Given the description of an element on the screen output the (x, y) to click on. 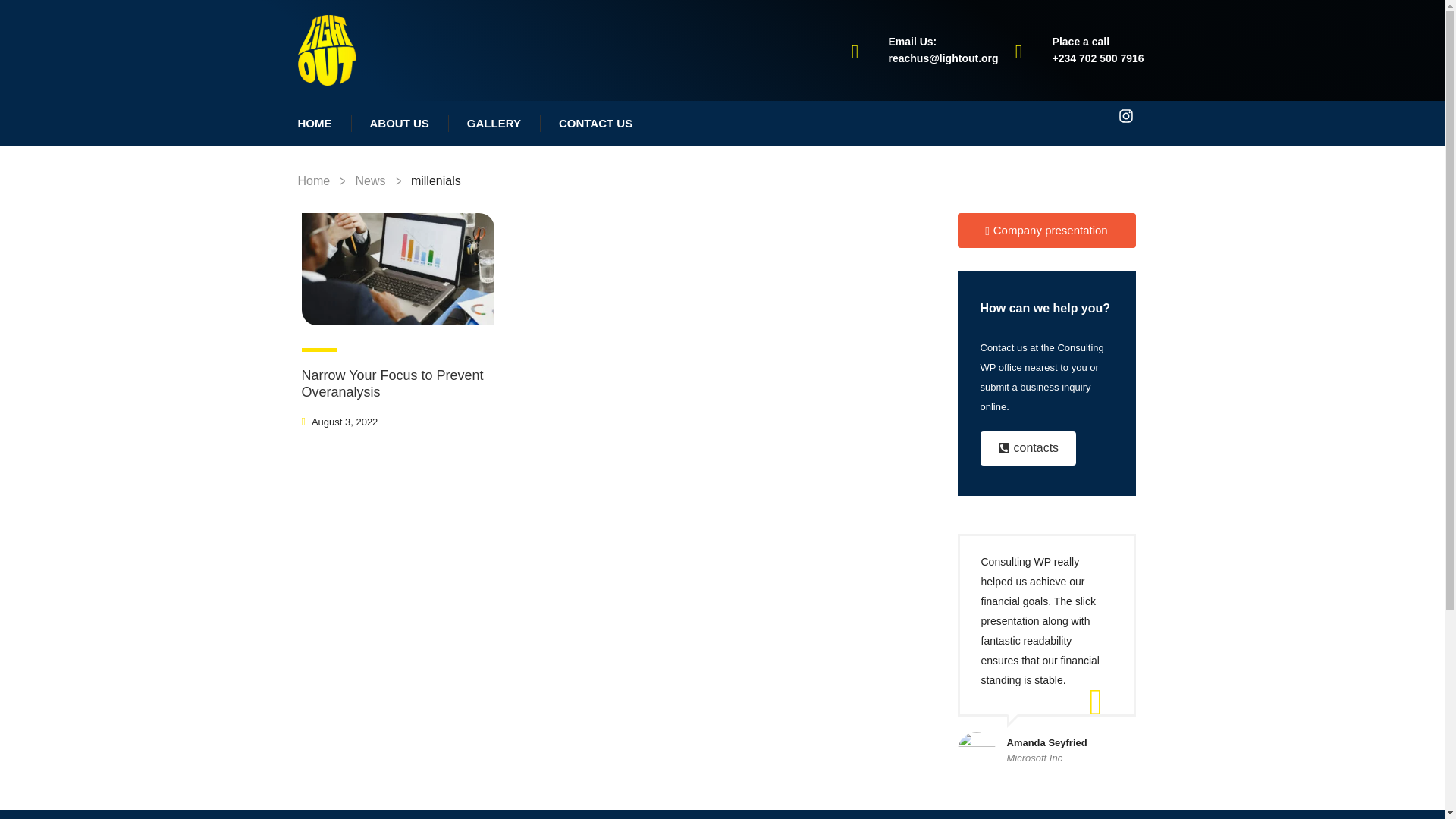
GALLERY (494, 123)
Go to News. (370, 180)
ABOUT US (398, 123)
Company presentation (1045, 230)
CONTACT US (595, 123)
Go to LightOut Movement. (313, 180)
contacts (1027, 448)
HOME (314, 123)
News (370, 180)
Home (313, 180)
